Given the description of an element on the screen output the (x, y) to click on. 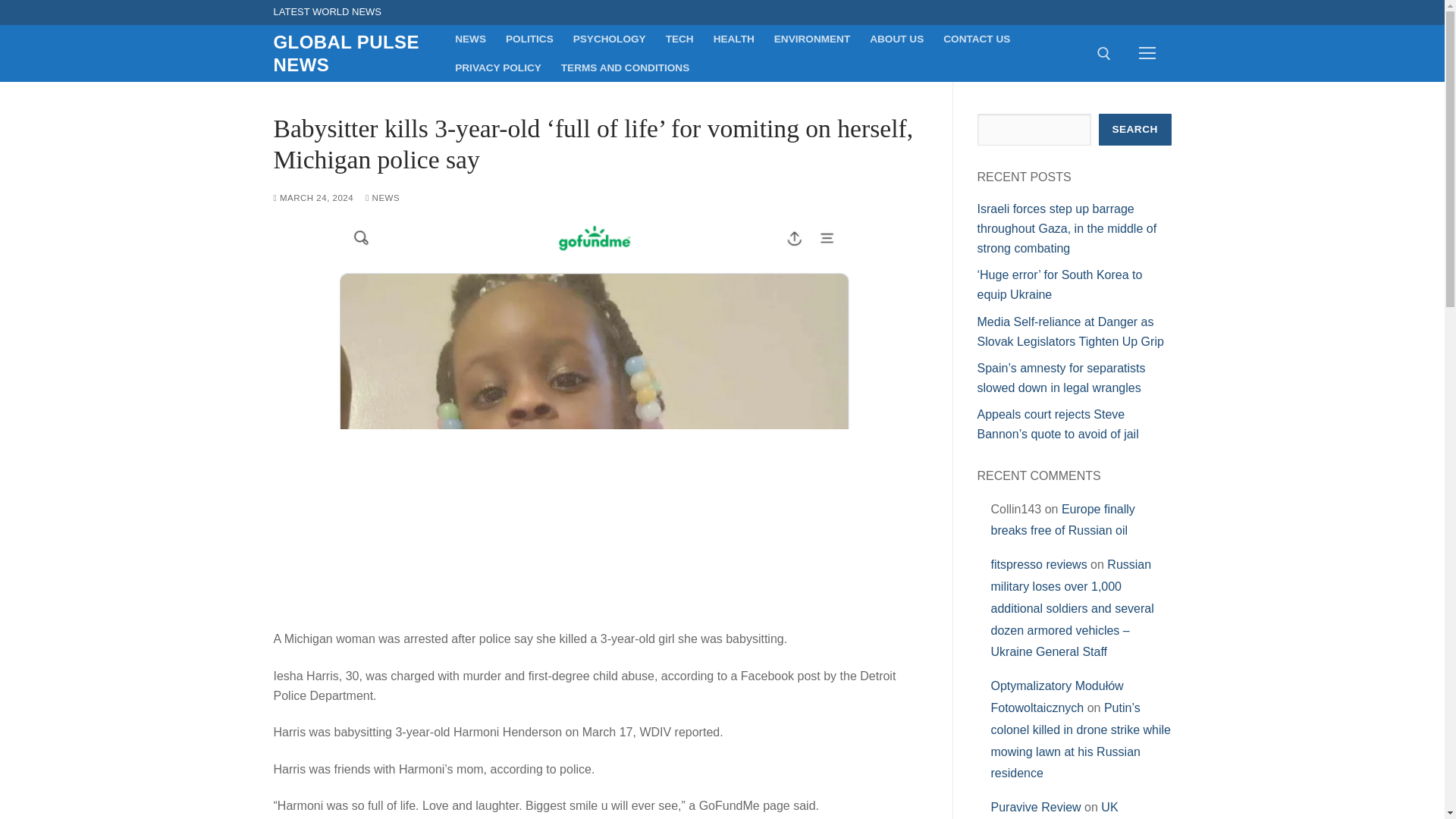
POLITICS (529, 39)
CONTACT US (976, 39)
MARCH 24, 2024 (313, 197)
ABOUT US (896, 39)
TECH (679, 39)
PSYCHOLOGY (609, 39)
NEWS (381, 197)
HEALTH (733, 39)
NEWS (470, 39)
GLOBAL PULSE NEWS (352, 53)
